Given the description of an element on the screen output the (x, y) to click on. 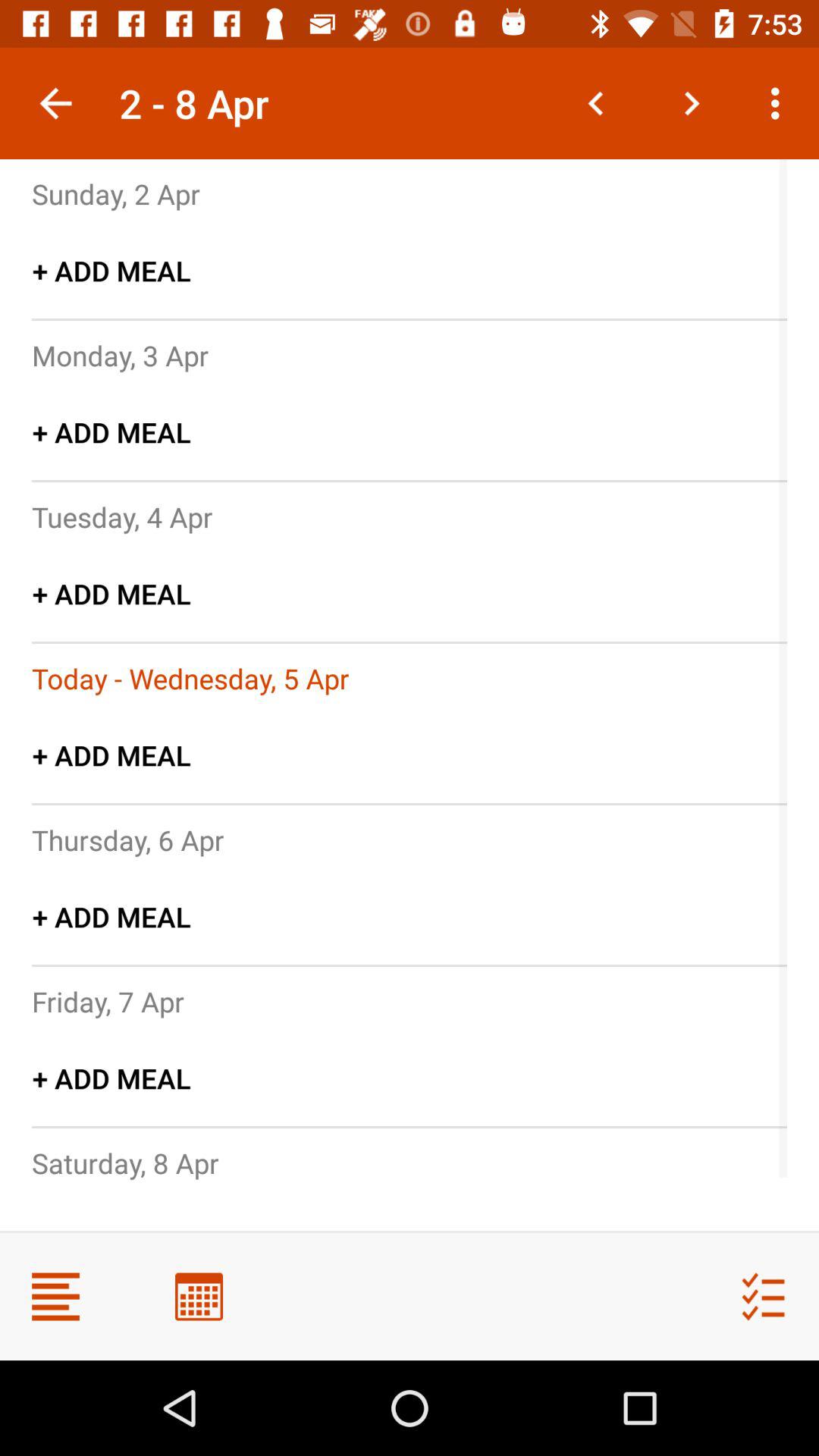
swipe until monday, 3 apr item (119, 355)
